Given the description of an element on the screen output the (x, y) to click on. 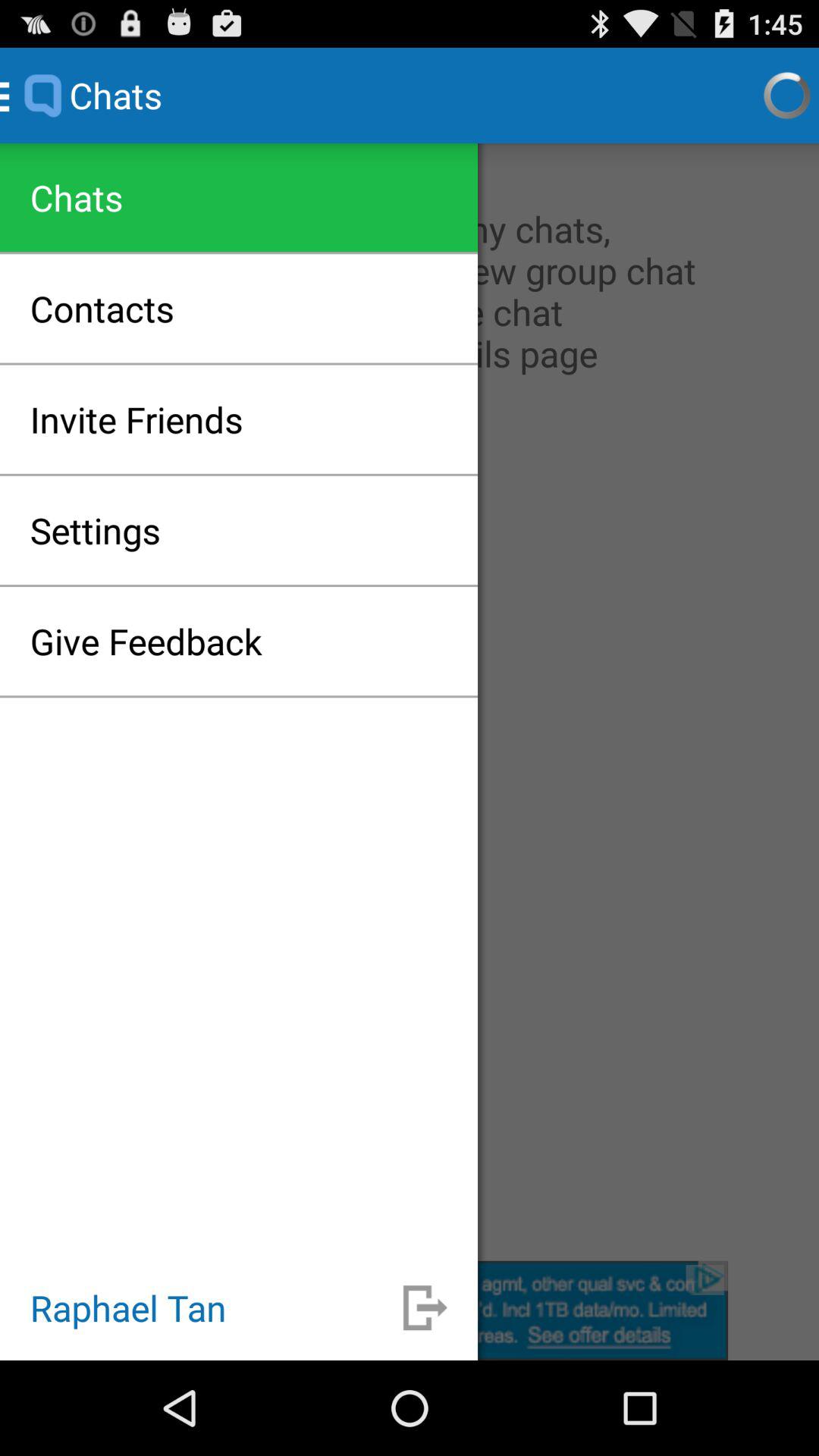
open the icon below settings (146, 640)
